Given the description of an element on the screen output the (x, y) to click on. 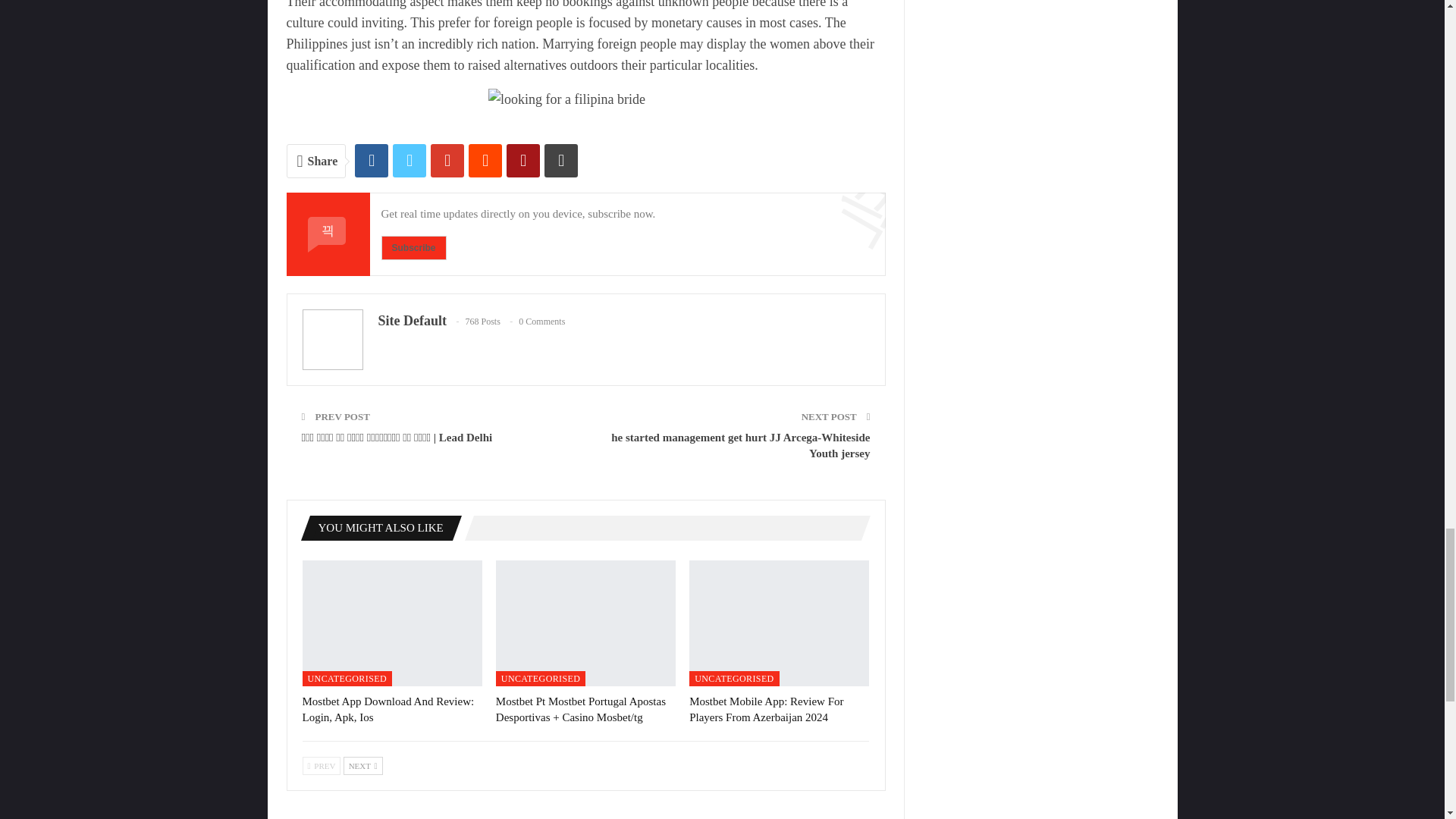
Previous (320, 765)
Mostbet App Download And Review: Login, Apk, Ios (387, 709)
Next (362, 765)
Mostbet Mobile App: Review For Players From Azerbaijan 2024 (765, 709)
